Given the description of an element on the screen output the (x, y) to click on. 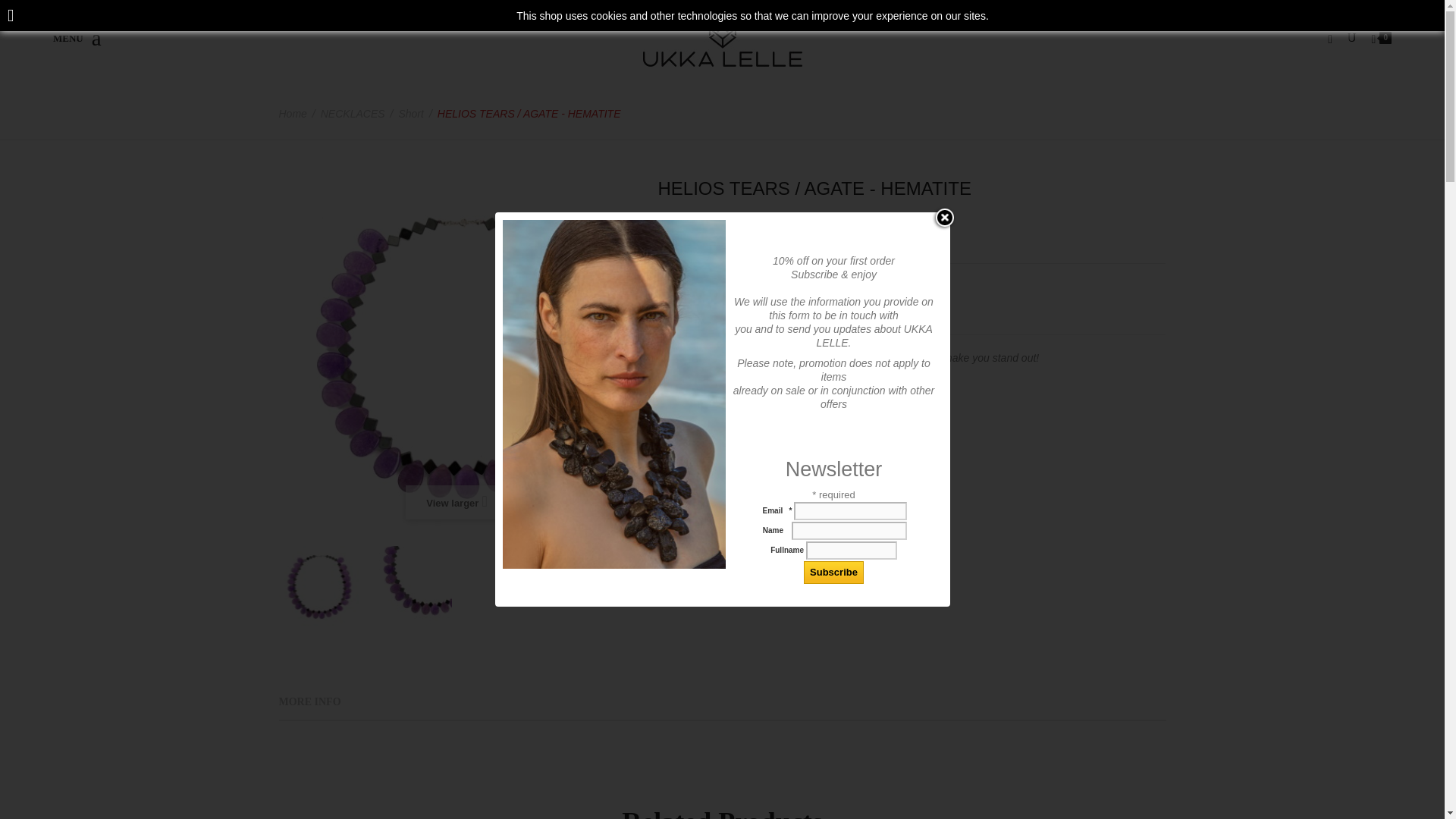
1 (687, 435)
UKKA LELLE (721, 42)
0 (1381, 38)
MENU (76, 37)
Subscribe (833, 572)
View my shopping cart (1381, 38)
Category (76, 37)
Subscribe (833, 572)
